Given the description of an element on the screen output the (x, y) to click on. 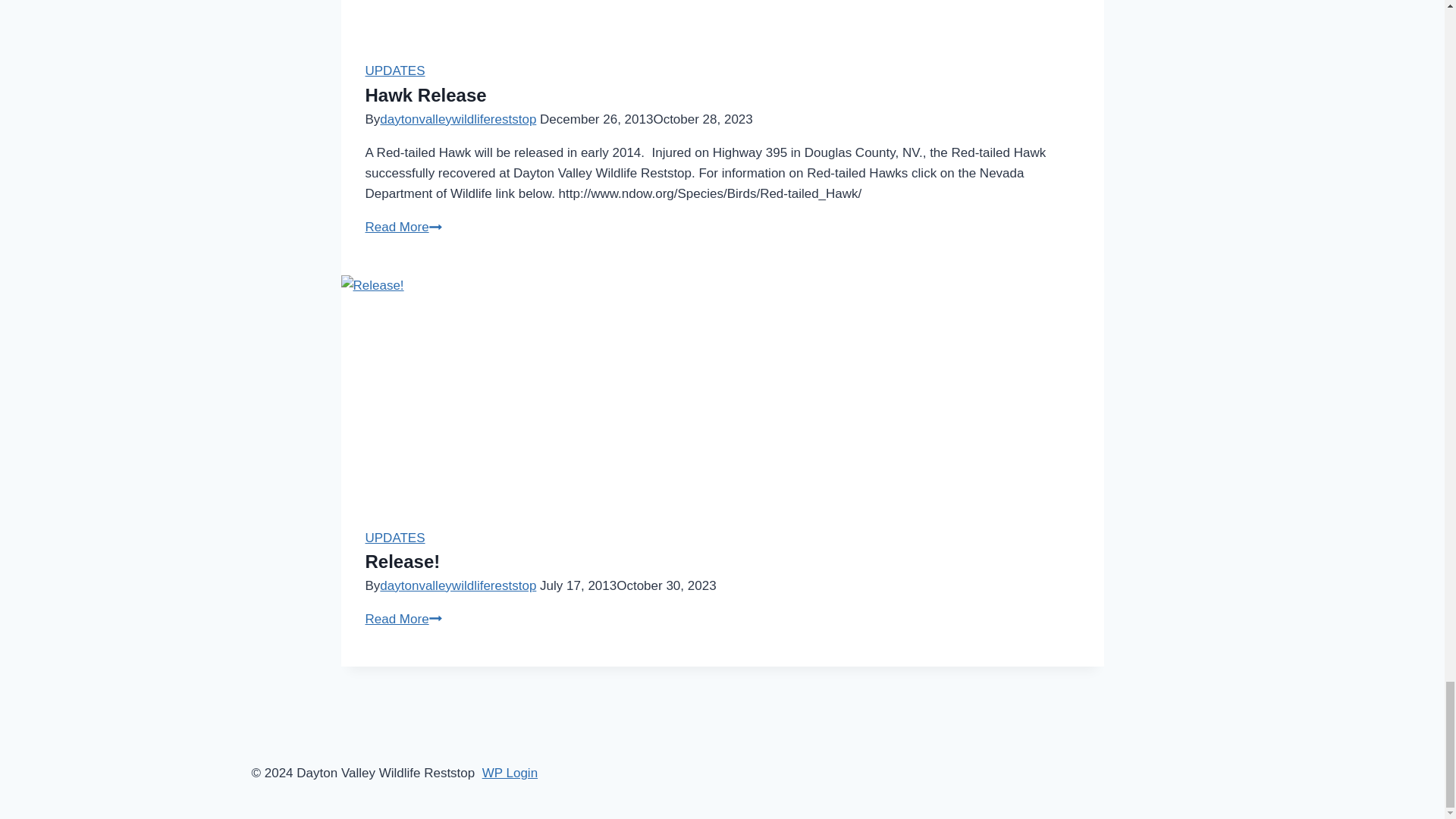
Release! (403, 561)
daytonvalleywildlifereststop (457, 119)
UPDATES (395, 537)
UPDATES (403, 227)
Hawk Release (395, 70)
